Given the description of an element on the screen output the (x, y) to click on. 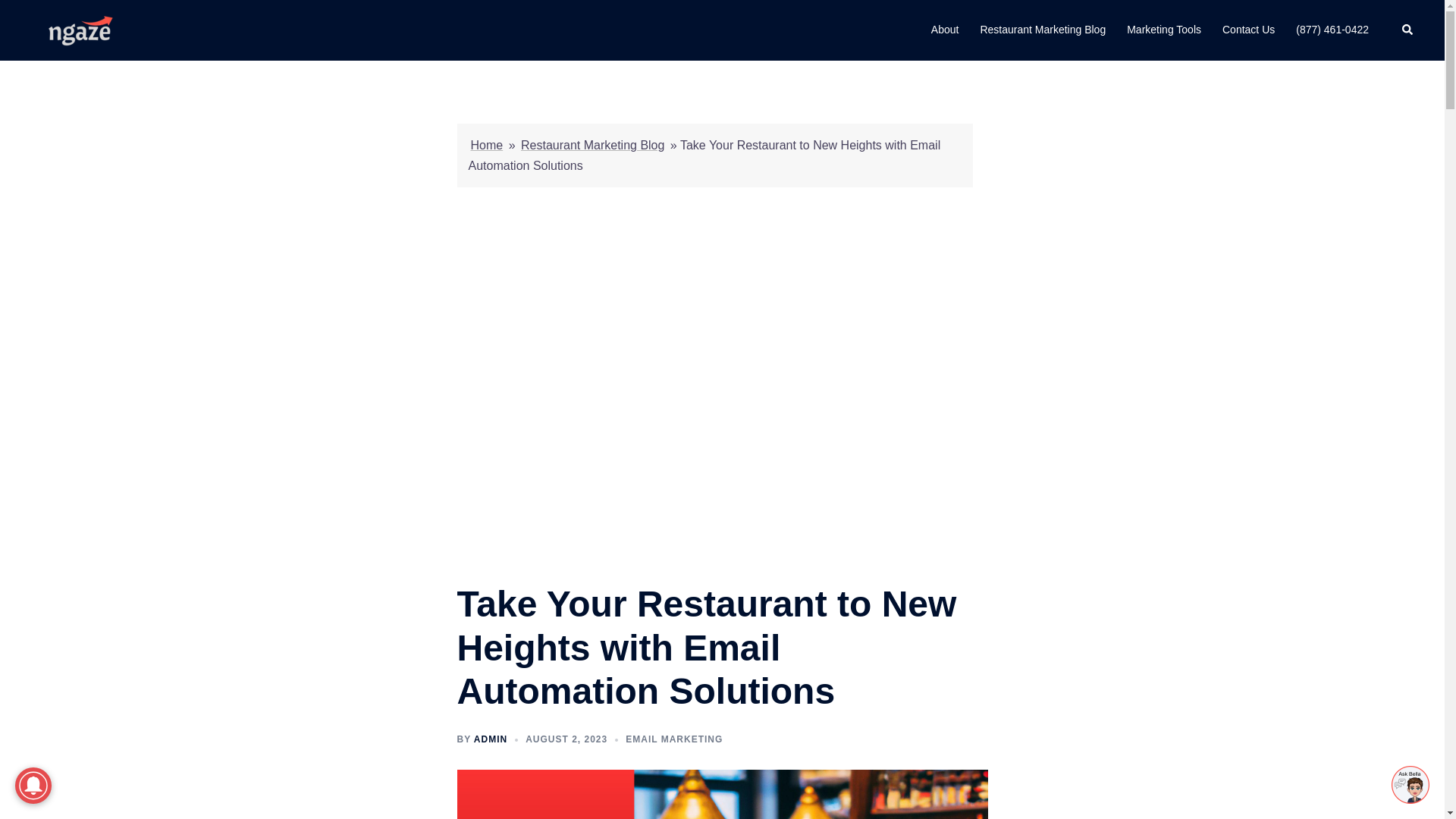
About (945, 30)
ADMIN (490, 738)
NGAZE AI (77, 29)
Marketing Tools (1163, 30)
EMAIL MARKETING (674, 738)
Restaurant Marketing Blog (592, 144)
Restaurant Marketing Blog (1042, 30)
Home (486, 144)
Search (1407, 30)
Contact Us (1249, 30)
AUGUST 2, 2023 (566, 738)
